Given the description of an element on the screen output the (x, y) to click on. 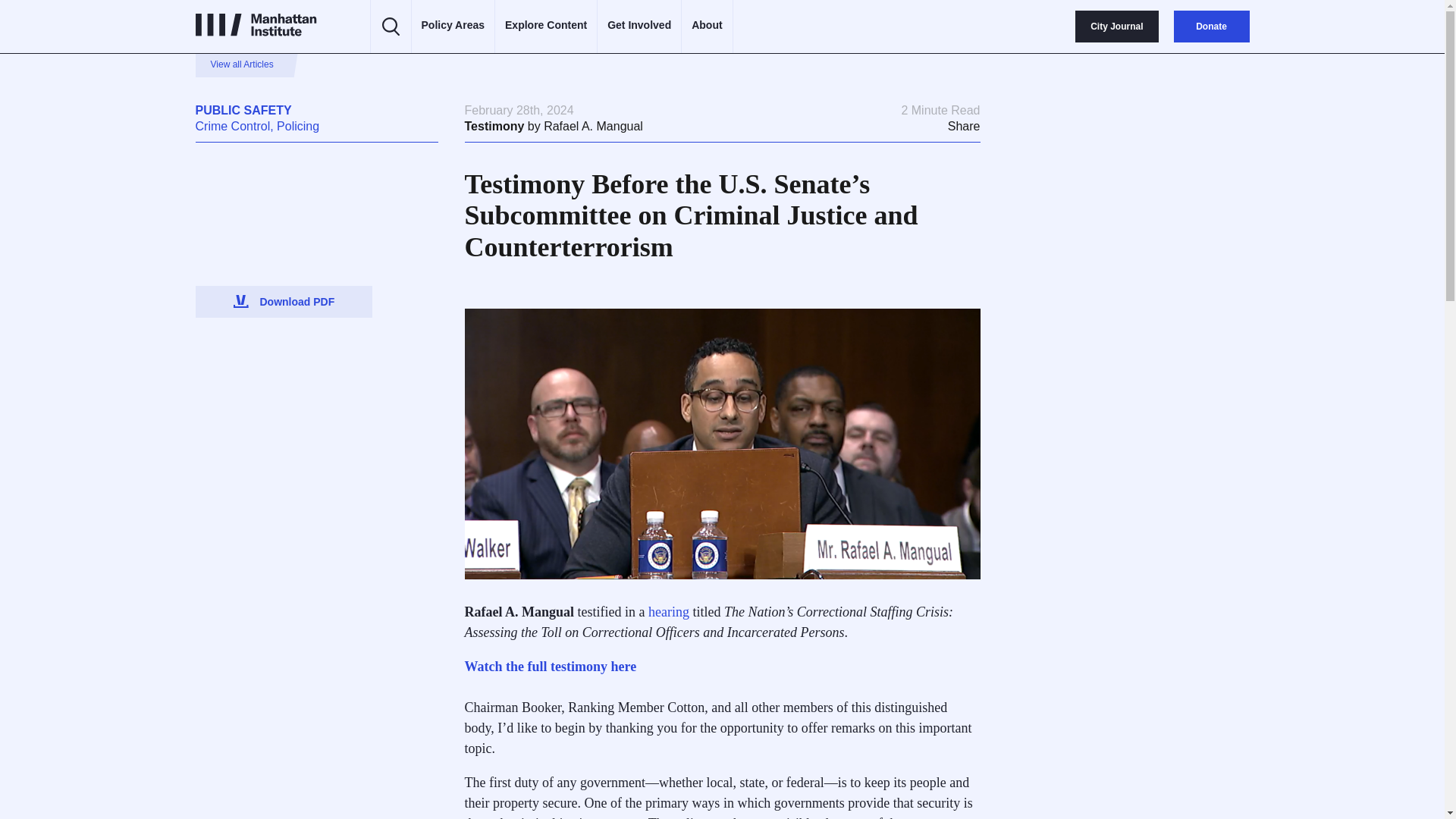
About (706, 26)
Policy Areas (453, 26)
Donate (1211, 26)
City Journal (1116, 26)
Explore Content (545, 26)
Get Involved (639, 26)
